Given the description of an element on the screen output the (x, y) to click on. 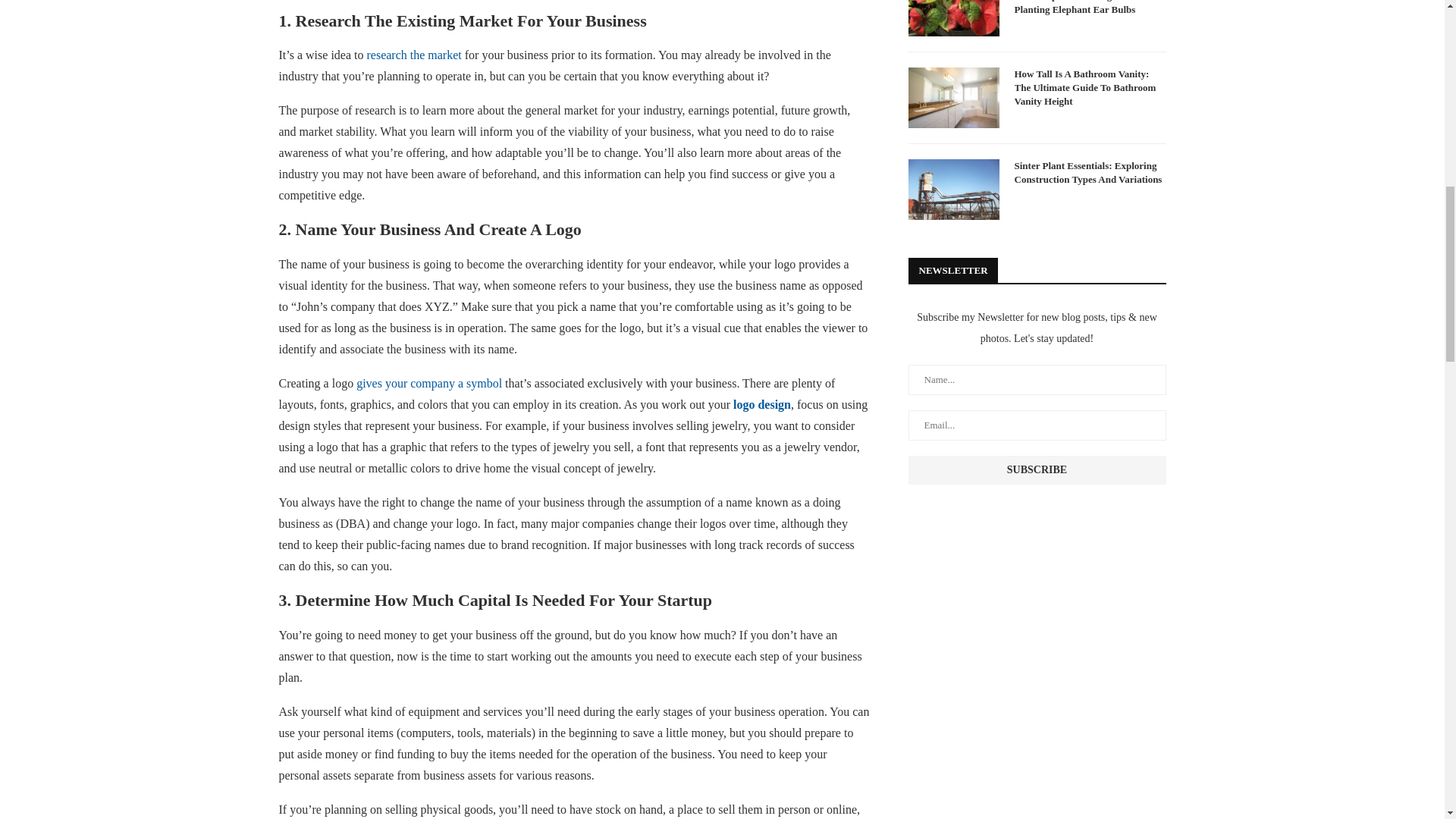
research the market (413, 54)
logo design (761, 404)
Subscribe (1037, 469)
gives your company a symbol (429, 382)
